Given the description of an element on the screen output the (x, y) to click on. 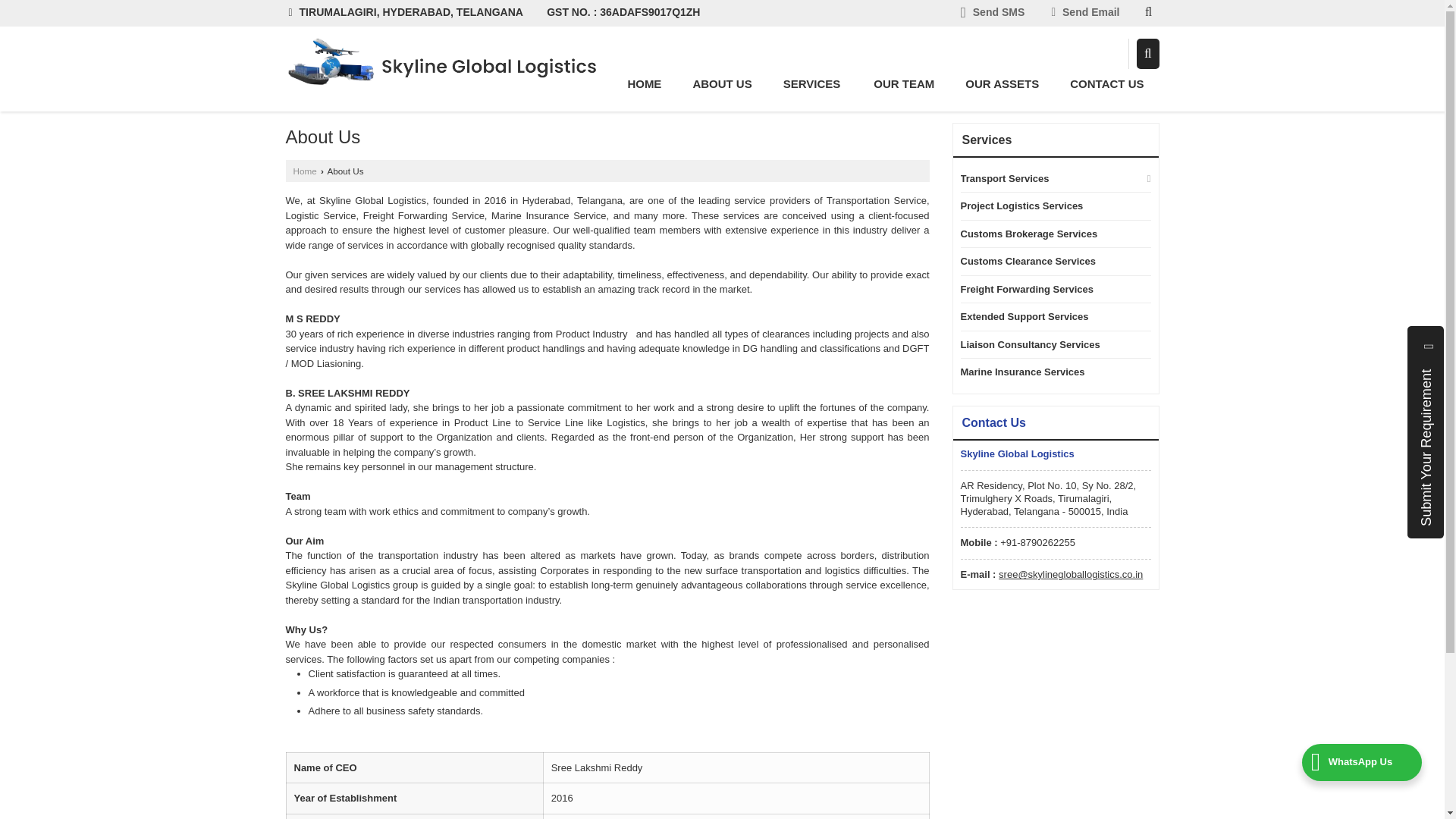
HOME (644, 83)
OUR ASSETS (1002, 83)
OUR TEAM (904, 83)
Services (985, 139)
Search (1147, 53)
SERVICES (813, 83)
Send SMS (992, 13)
Freight Forwarding Services (1048, 289)
Customs Clearance Services (1048, 261)
Project Logistics Services (1048, 206)
Our Assets (1002, 83)
Home (644, 83)
Liaison Consultancy Services (1048, 344)
ABOUT US (722, 83)
Services (813, 83)
